Given the description of an element on the screen output the (x, y) to click on. 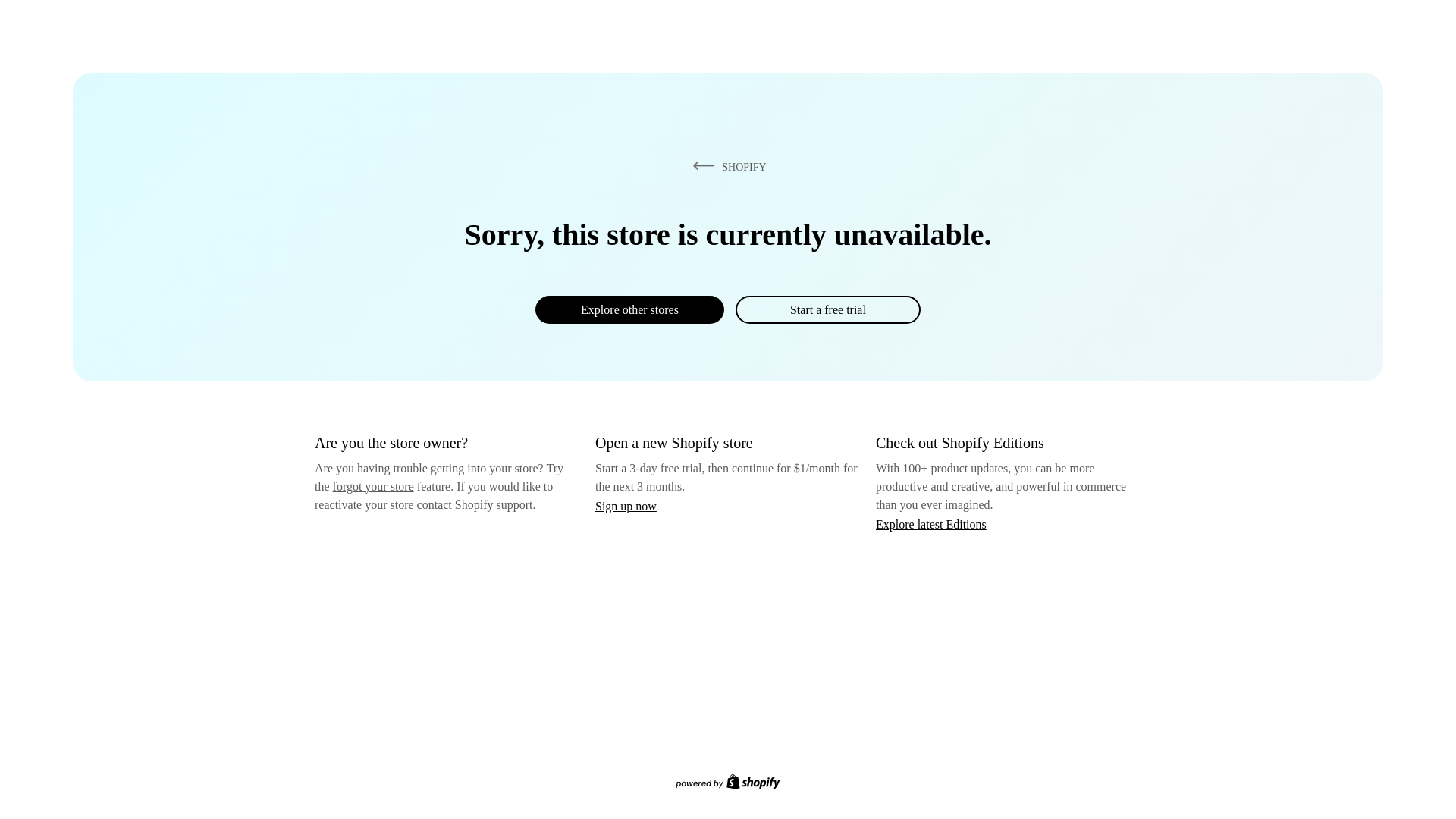
Explore other stores (629, 309)
Sign up now (625, 505)
Explore latest Editions (931, 523)
Start a free trial (827, 309)
forgot your store (373, 486)
Shopify support (493, 504)
SHOPIFY (726, 166)
